Given the description of an element on the screen output the (x, y) to click on. 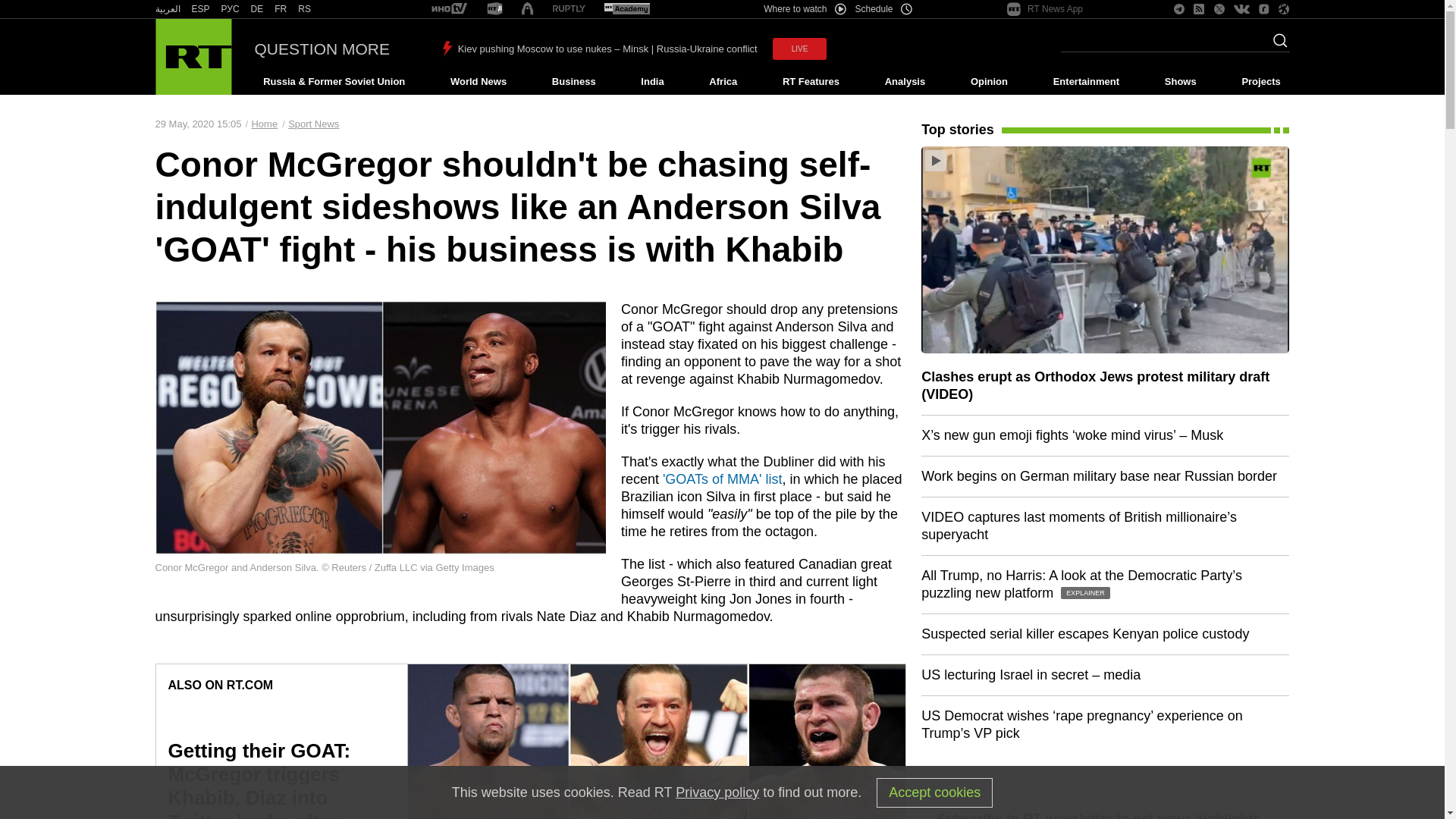
RS (304, 9)
RT  (626, 9)
Where to watch (803, 9)
Entertainment (1085, 81)
Schedule (884, 9)
RT  (280, 9)
LIVE (800, 48)
Analysis (905, 81)
RT  (494, 9)
RT News App (1045, 9)
